Given the description of an element on the screen output the (x, y) to click on. 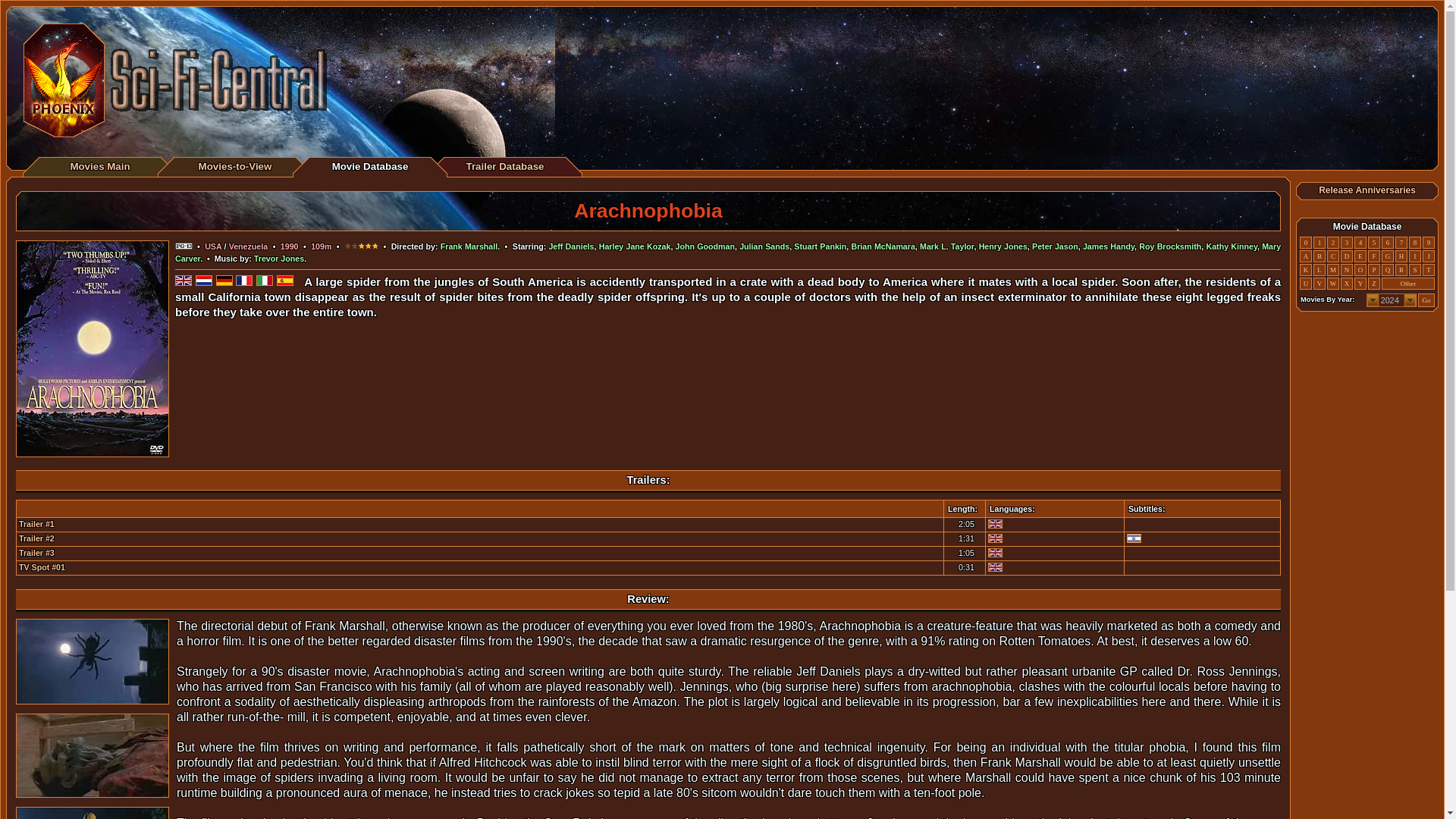
English (995, 566)
English (995, 537)
Trailer Database (504, 165)
Release Anniversaries (1367, 190)
English (995, 552)
Movies Main (99, 165)
Movies-to-View (235, 165)
Hebrew (1133, 537)
English (995, 523)
